Given the description of an element on the screen output the (x, y) to click on. 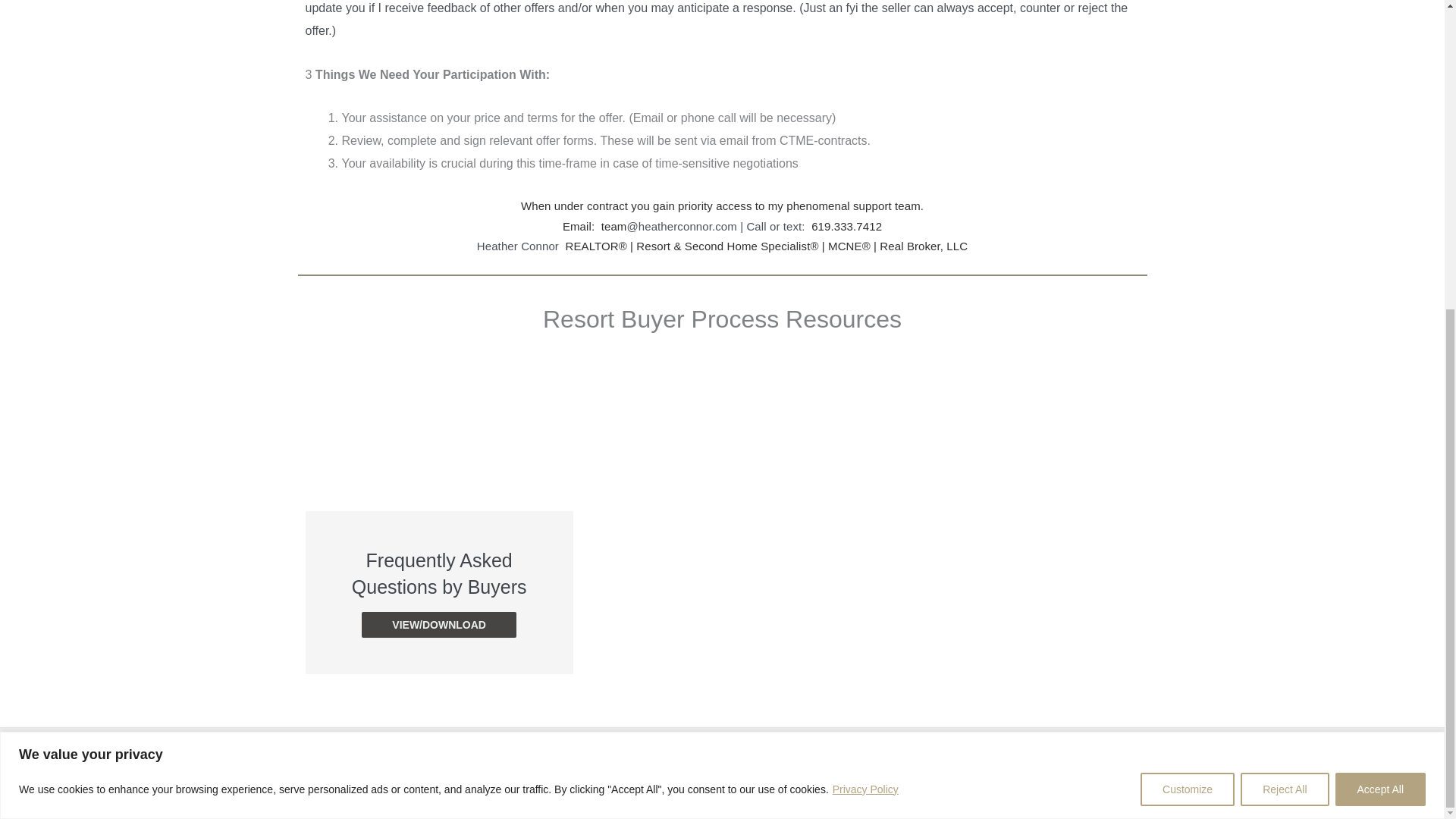
Reject All (1283, 299)
Customize (1187, 299)
Privacy Policy (865, 300)
Accept All (1380, 299)
